Given the description of an element on the screen output the (x, y) to click on. 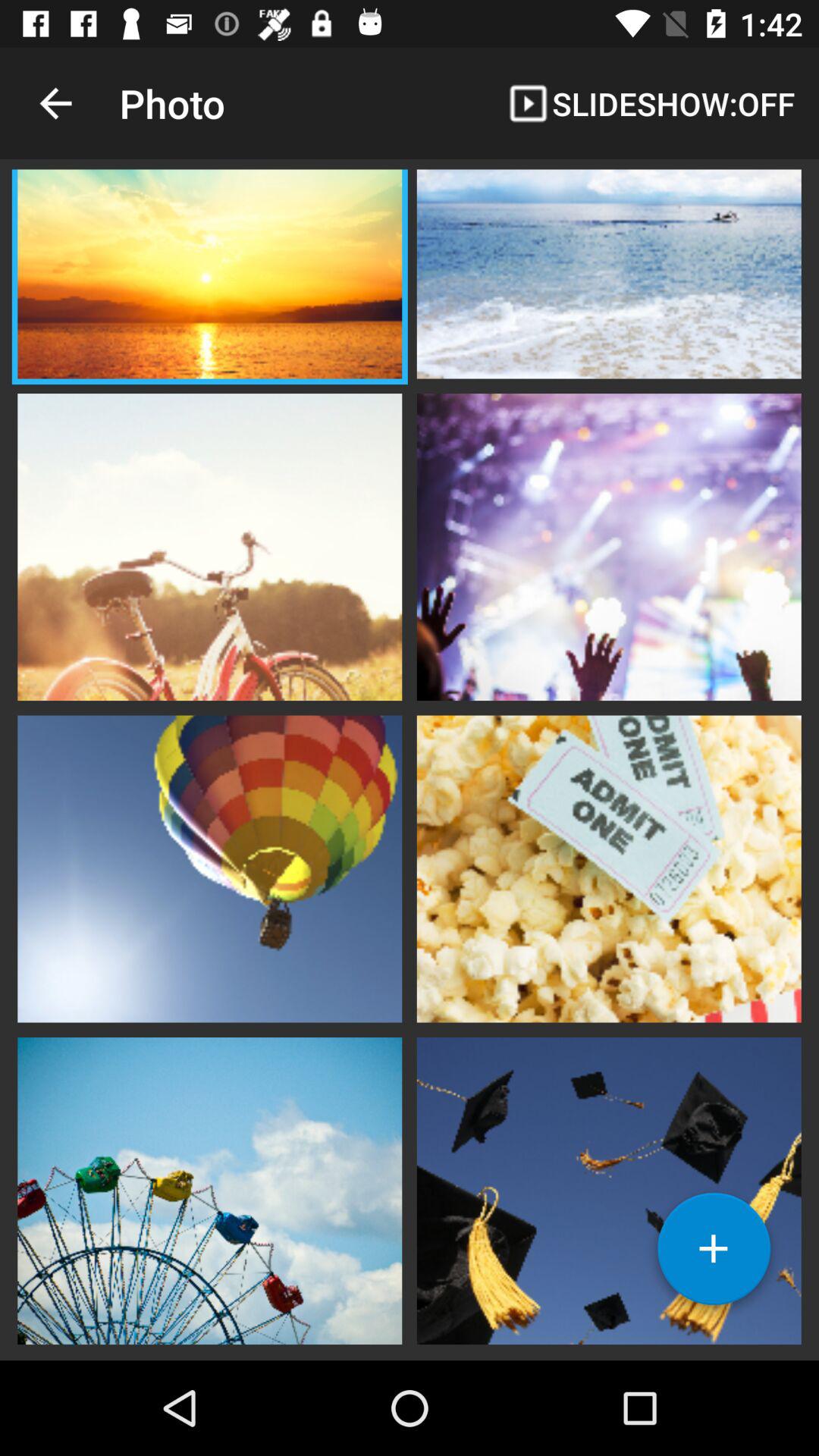
press the item at the bottom left corner (209, 1189)
